Given the description of an element on the screen output the (x, y) to click on. 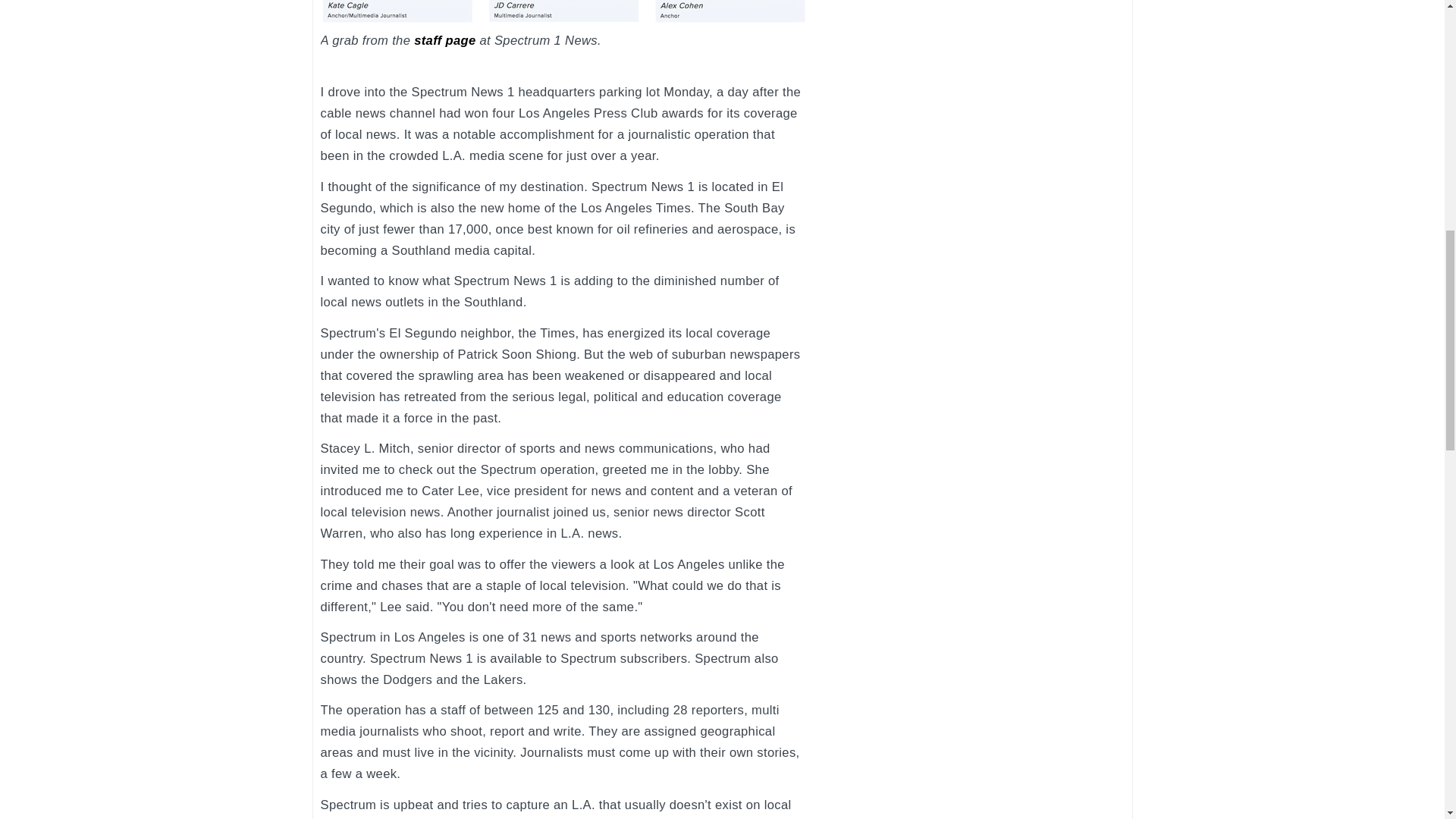
staff page (444, 40)
